Given the description of an element on the screen output the (x, y) to click on. 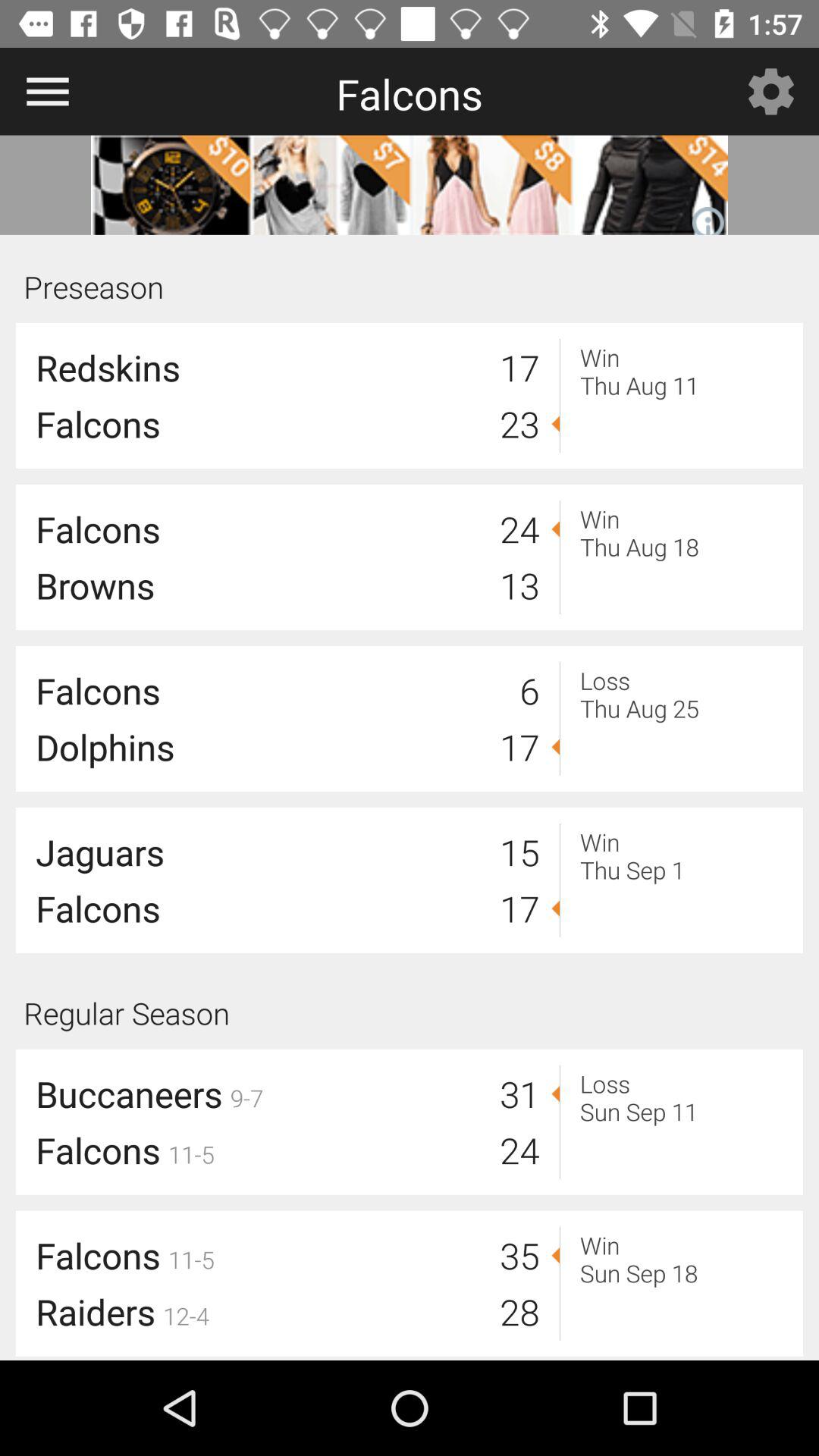
click advertisement (409, 184)
